Given the description of an element on the screen output the (x, y) to click on. 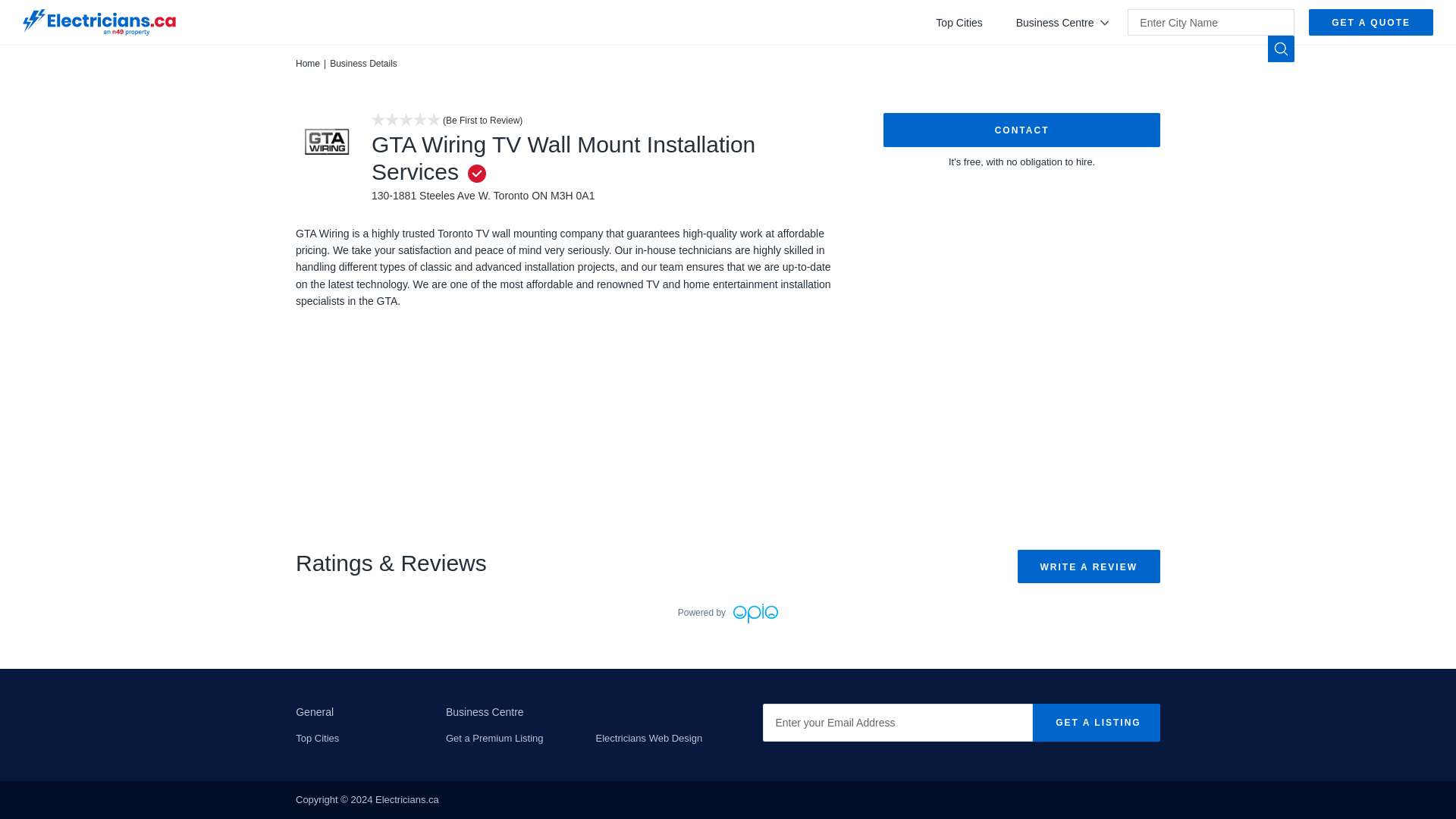
Business Centre (1062, 22)
GET A QUOTE (1370, 22)
Electricians Web Design (649, 737)
Top Cities (958, 22)
Top Cities (317, 737)
GET A LISTING (1095, 722)
Get a Premium Listing (494, 737)
GET A LISTING (1095, 722)
WRITE A REVIEW (1088, 566)
Go to Electricians.ca. (307, 63)
